Given the description of an element on the screen output the (x, y) to click on. 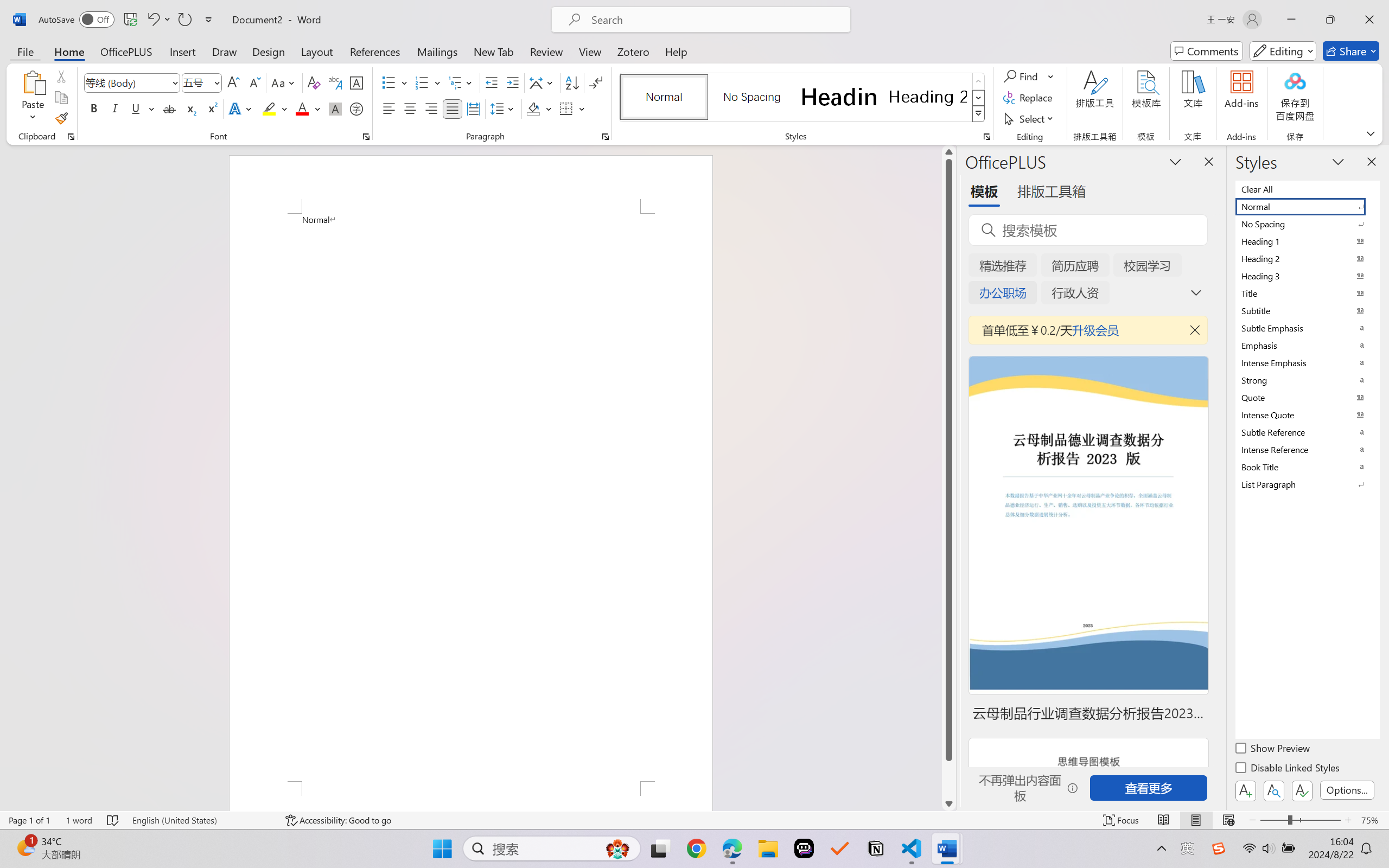
Quote (1306, 397)
Title (1306, 293)
Repeat Doc Close (184, 19)
Text Effects and Typography (241, 108)
Styles (978, 113)
More Options (1051, 75)
Select (1030, 118)
Word Count 1 word (78, 819)
Class: NetUIButton (1301, 790)
Strikethrough (169, 108)
Comments (1206, 50)
Show/Hide Editing Marks (595, 82)
Minimize (1291, 19)
Share (1350, 51)
